Given the description of an element on the screen output the (x, y) to click on. 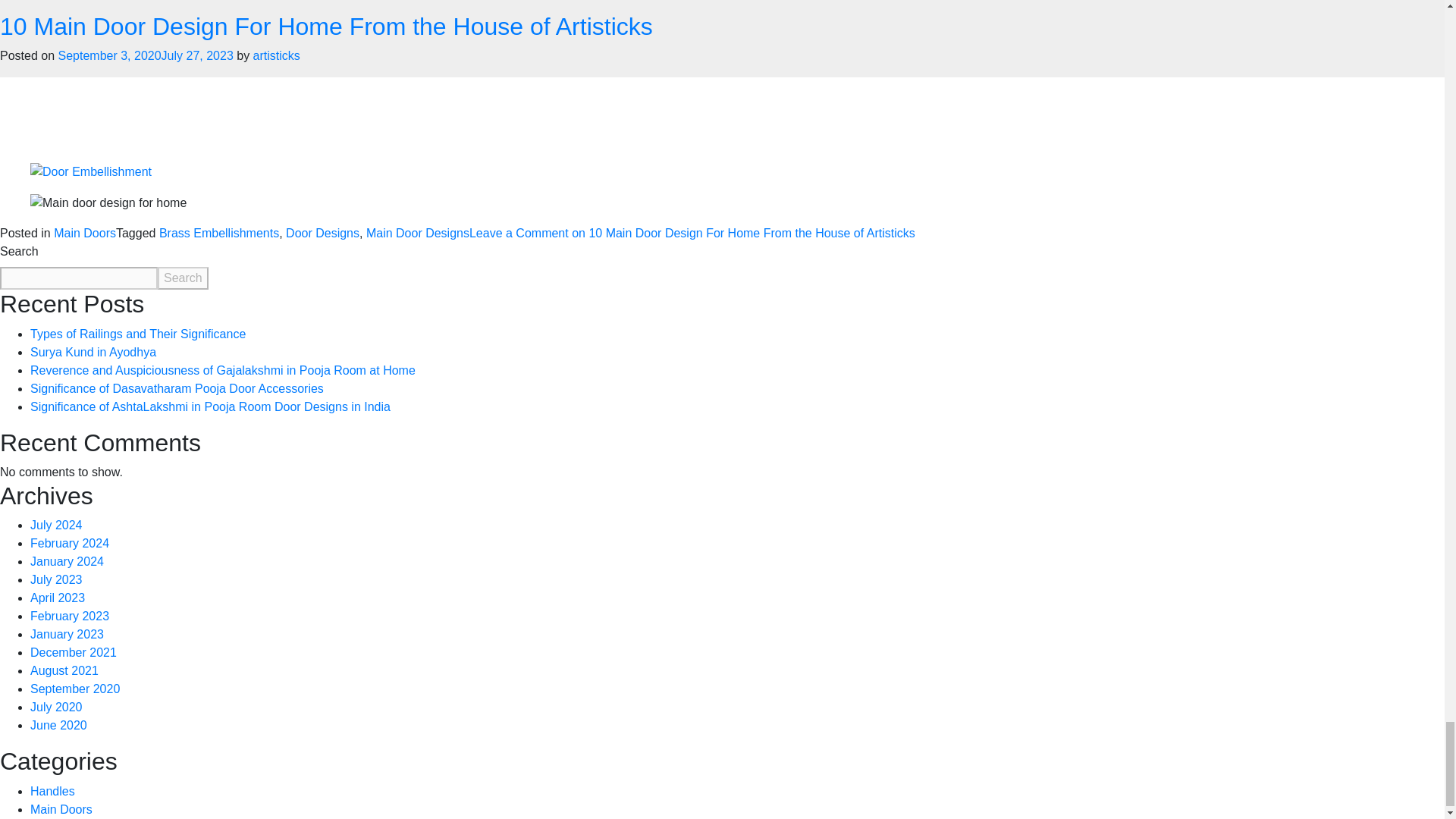
December 2021 (73, 652)
Search (182, 277)
April 2023 (57, 597)
February 2024 (69, 543)
Main Doors (84, 232)
July 2023 (56, 579)
Surya Kund in Ayodhya (92, 351)
Types of Railings and Their Significance (138, 333)
Significance of Dasavatharam Pooja Door Accessories (176, 388)
January 2023 (66, 634)
July 2024 (56, 524)
Brass Embellishments (218, 232)
January 2024 (66, 561)
